Given the description of an element on the screen output the (x, y) to click on. 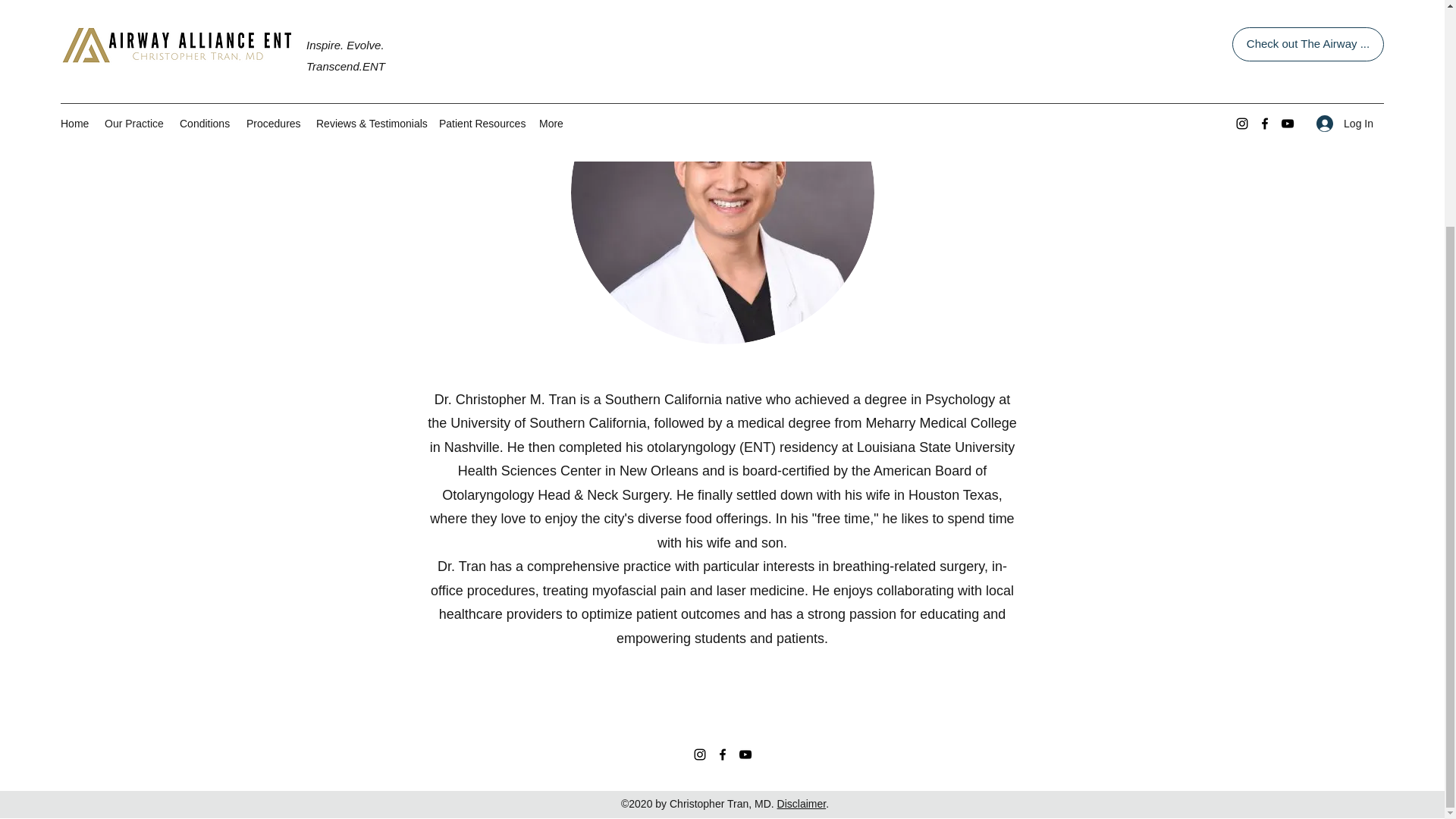
Disclaimer (802, 803)
